Given the description of an element on the screen output the (x, y) to click on. 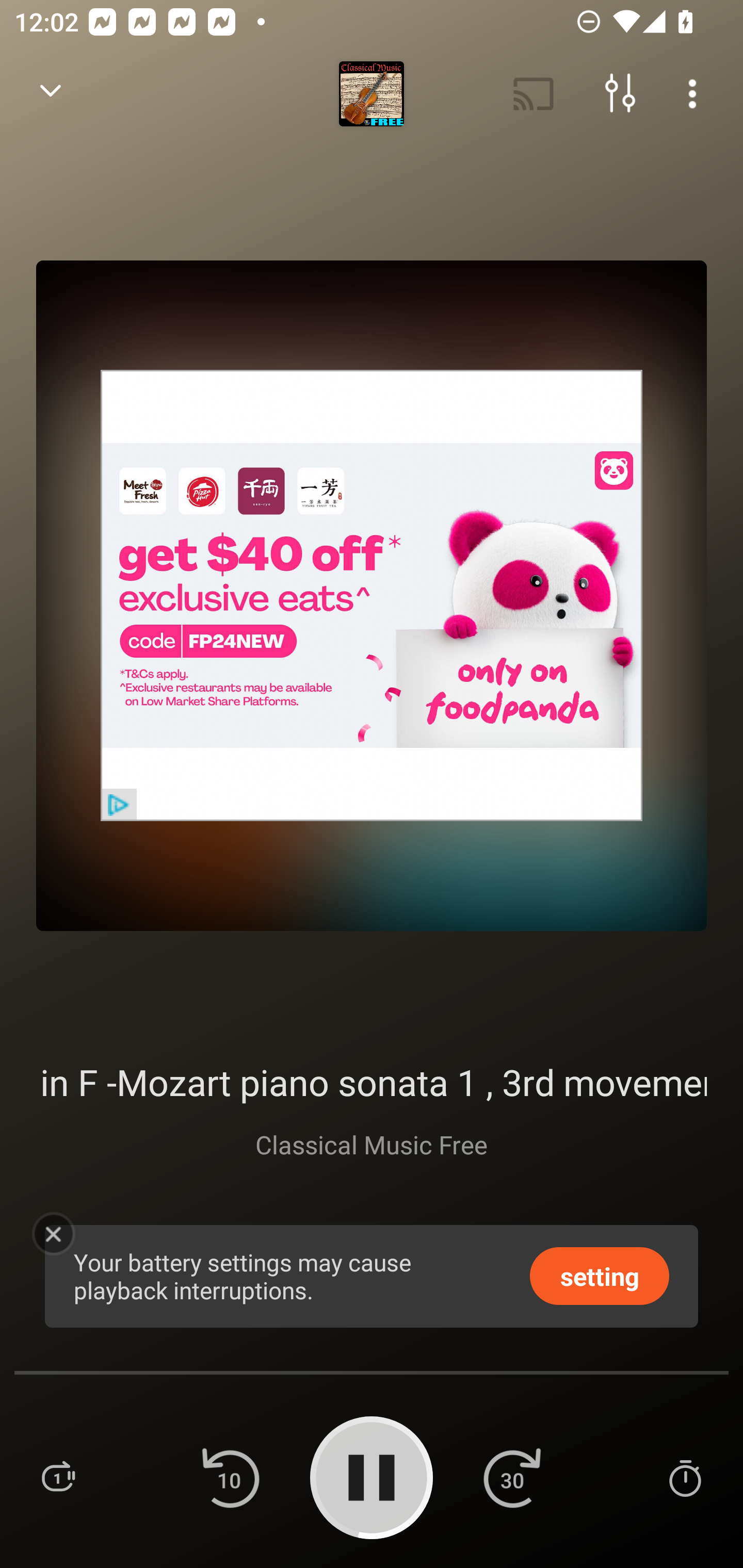
Cast. Disconnected (533, 93)
 Back (50, 94)
d32e7c95572b20c72c16 (371, 595)
Allegro in F -Mozart piano sonata 1 , 3rd movement (371, 1081)
Classical Music Free (371, 1144)
setting (599, 1275)
 Playlist (57, 1477)
Sleep Timer  (684, 1477)
